Given the description of an element on the screen output the (x, y) to click on. 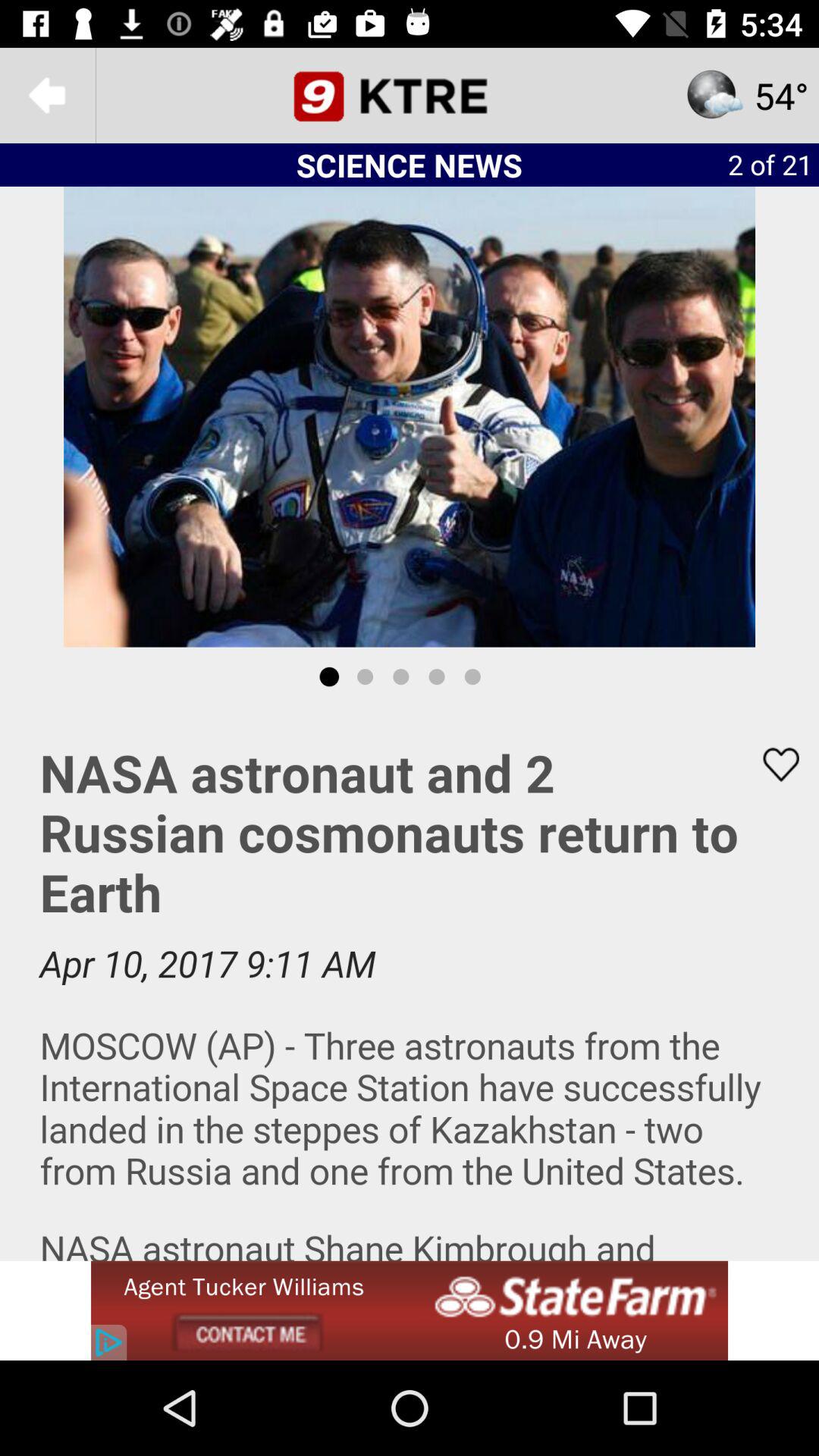
advertisement page (409, 983)
